Given the description of an element on the screen output the (x, y) to click on. 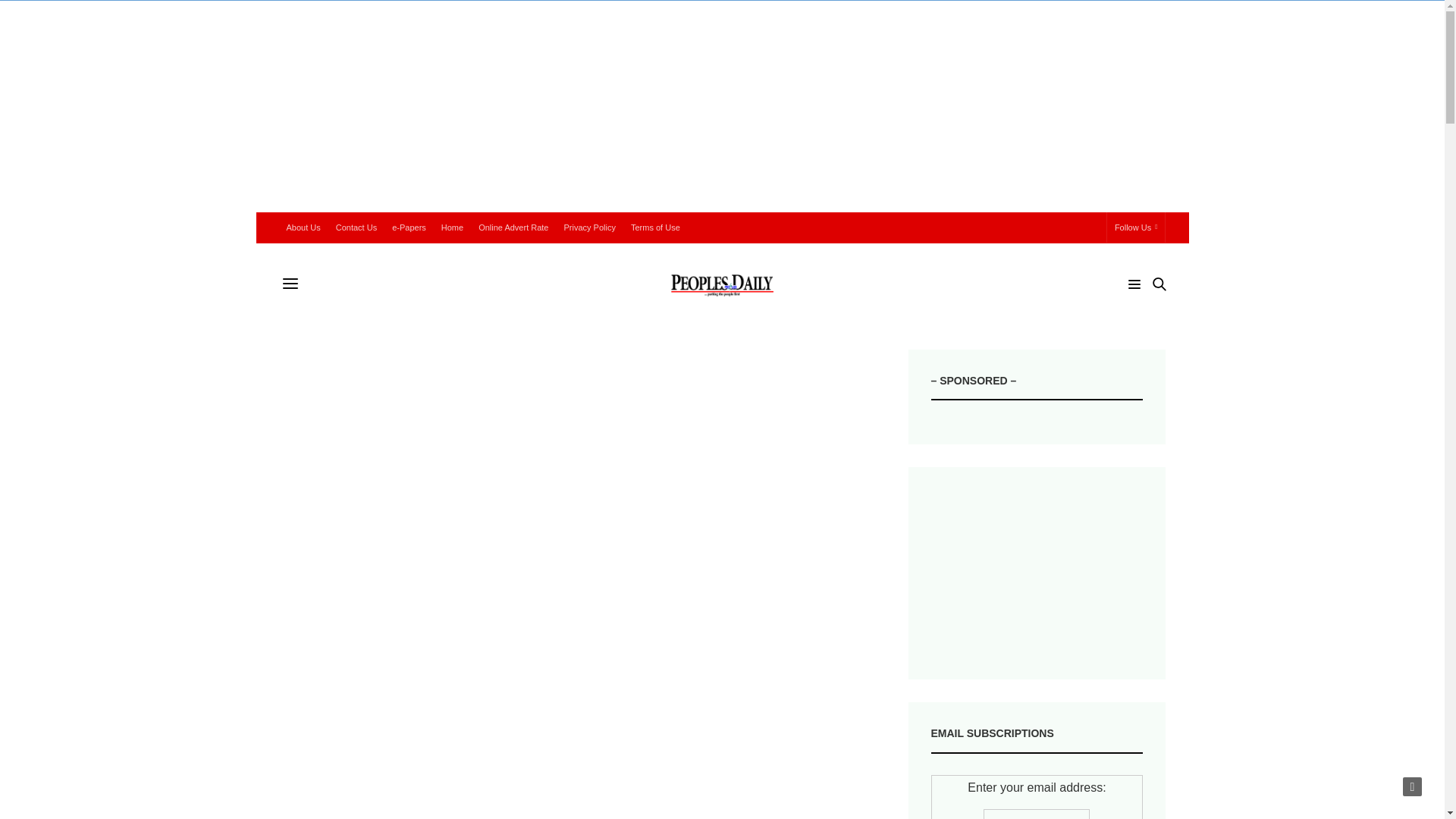
Online Advert Rate (513, 227)
Advertisement (1037, 572)
Privacy Policy (589, 227)
About Us (304, 227)
Home (451, 227)
Search (1137, 312)
Advertisement (571, 692)
Terms of Use (655, 227)
Follow Us (1136, 227)
e-Papers (408, 227)
